Given the description of an element on the screen output the (x, y) to click on. 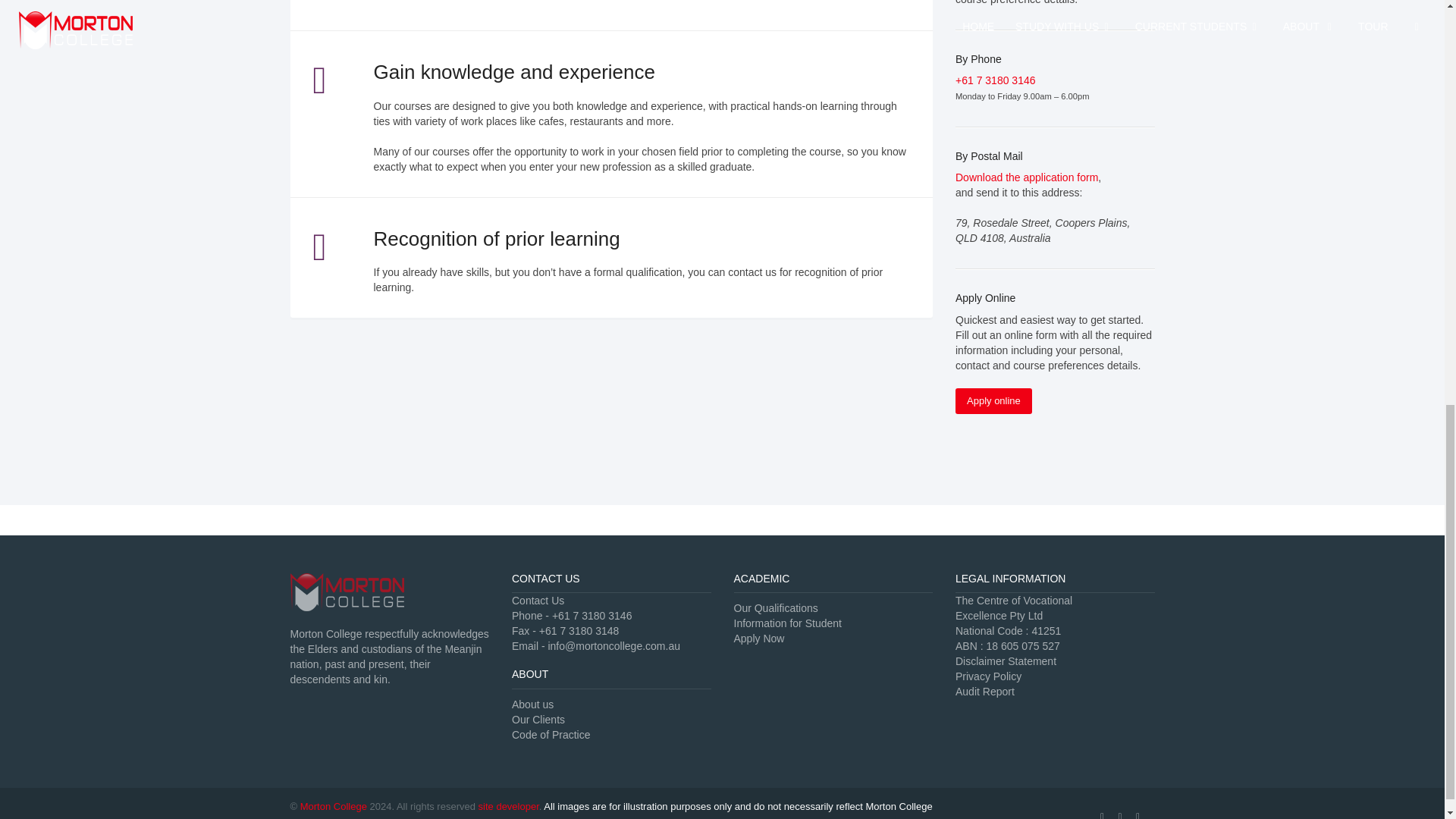
Information for Student (787, 623)
Contact Us (538, 600)
Apply Now (758, 638)
Our Clients (538, 719)
Code of Practice (551, 734)
Download the application form (1026, 177)
About us (532, 704)
Apply online (993, 401)
Our Qualifications (775, 607)
